Given the description of an element on the screen output the (x, y) to click on. 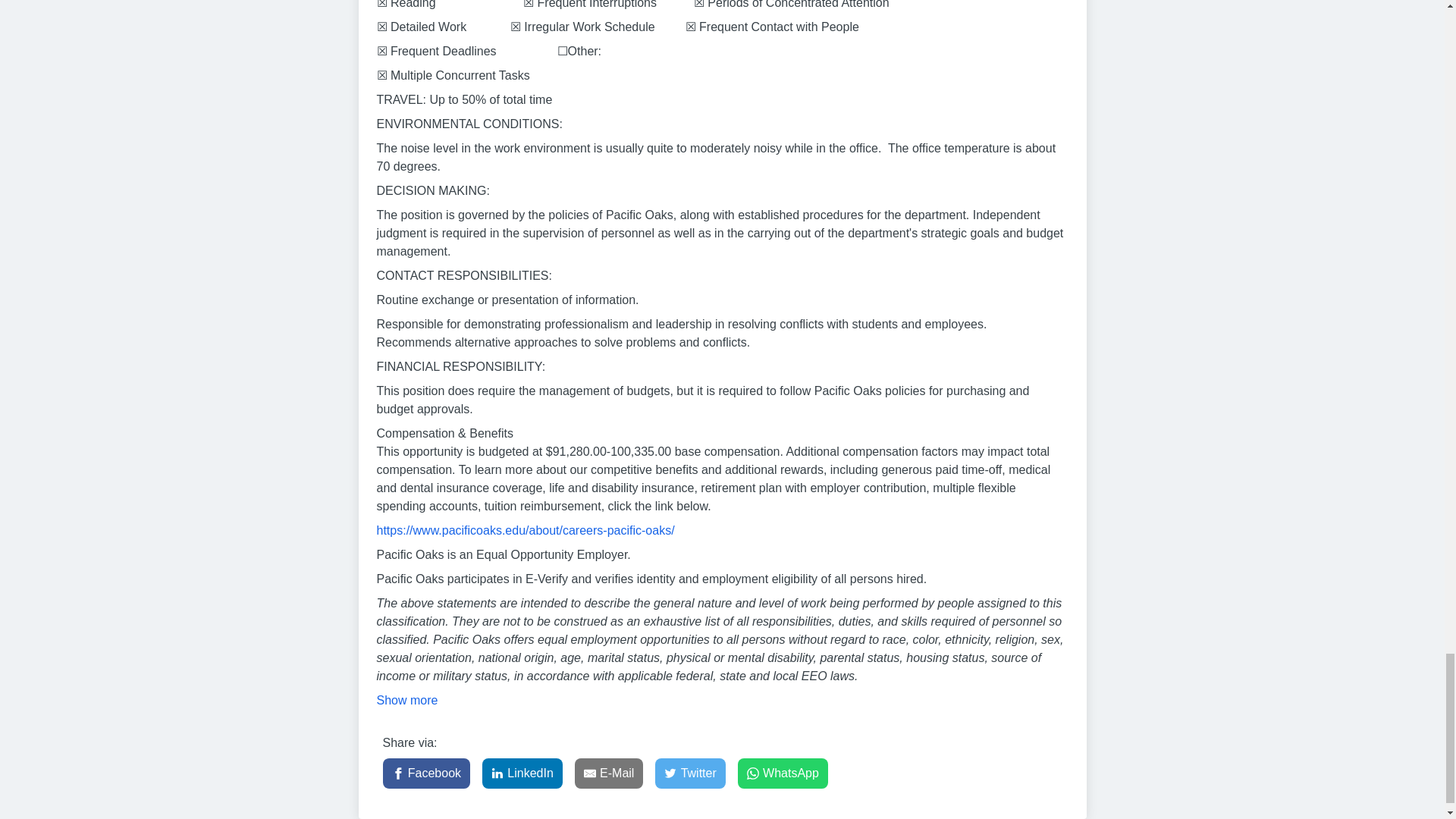
LinkedIn (521, 773)
WhatsApp (783, 773)
E-Mail (609, 773)
Facebook (425, 773)
Twitter (690, 773)
Show more (406, 700)
